Given the description of an element on the screen output the (x, y) to click on. 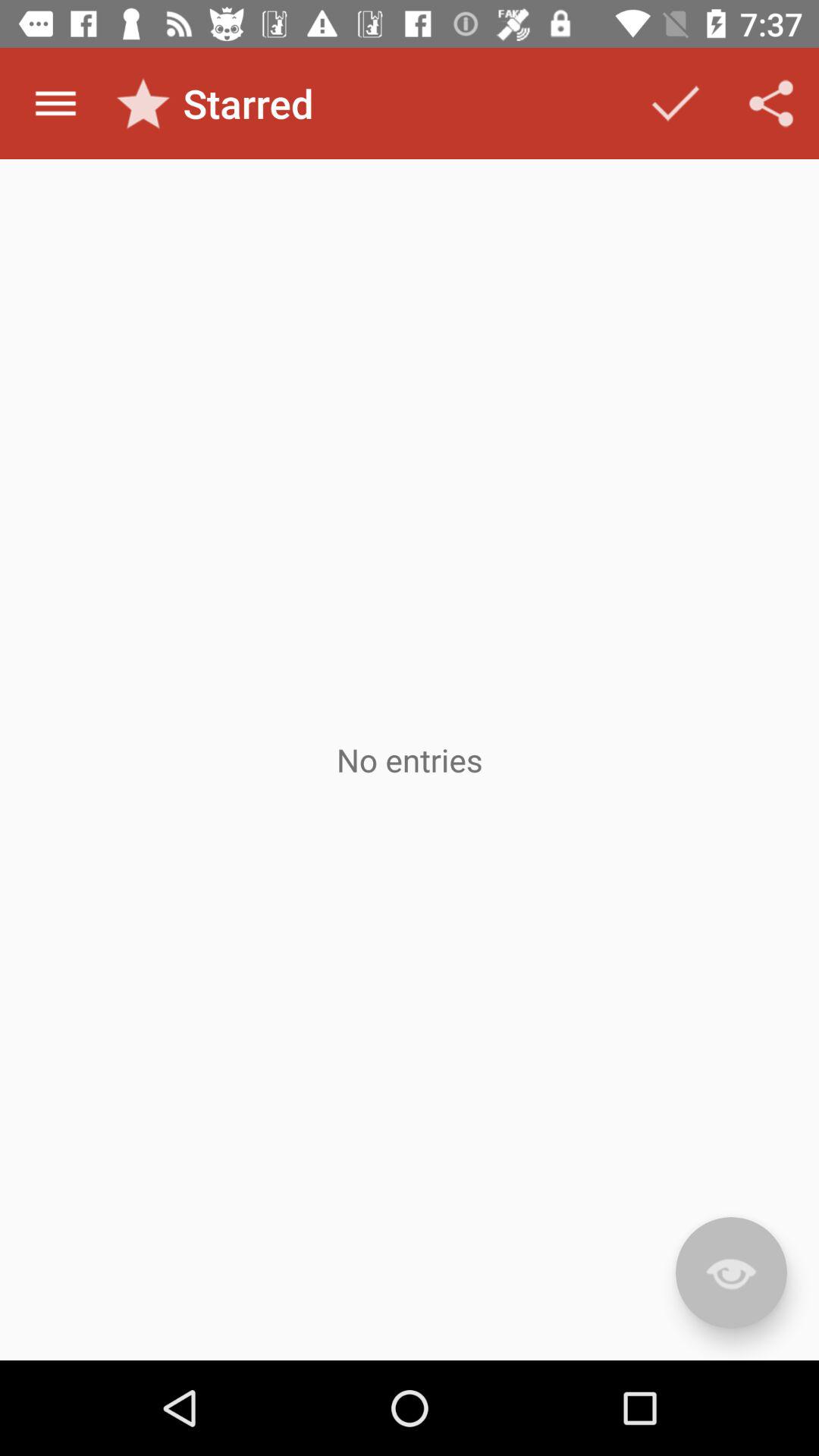
choose icon above no entries app (55, 103)
